Given the description of an element on the screen output the (x, y) to click on. 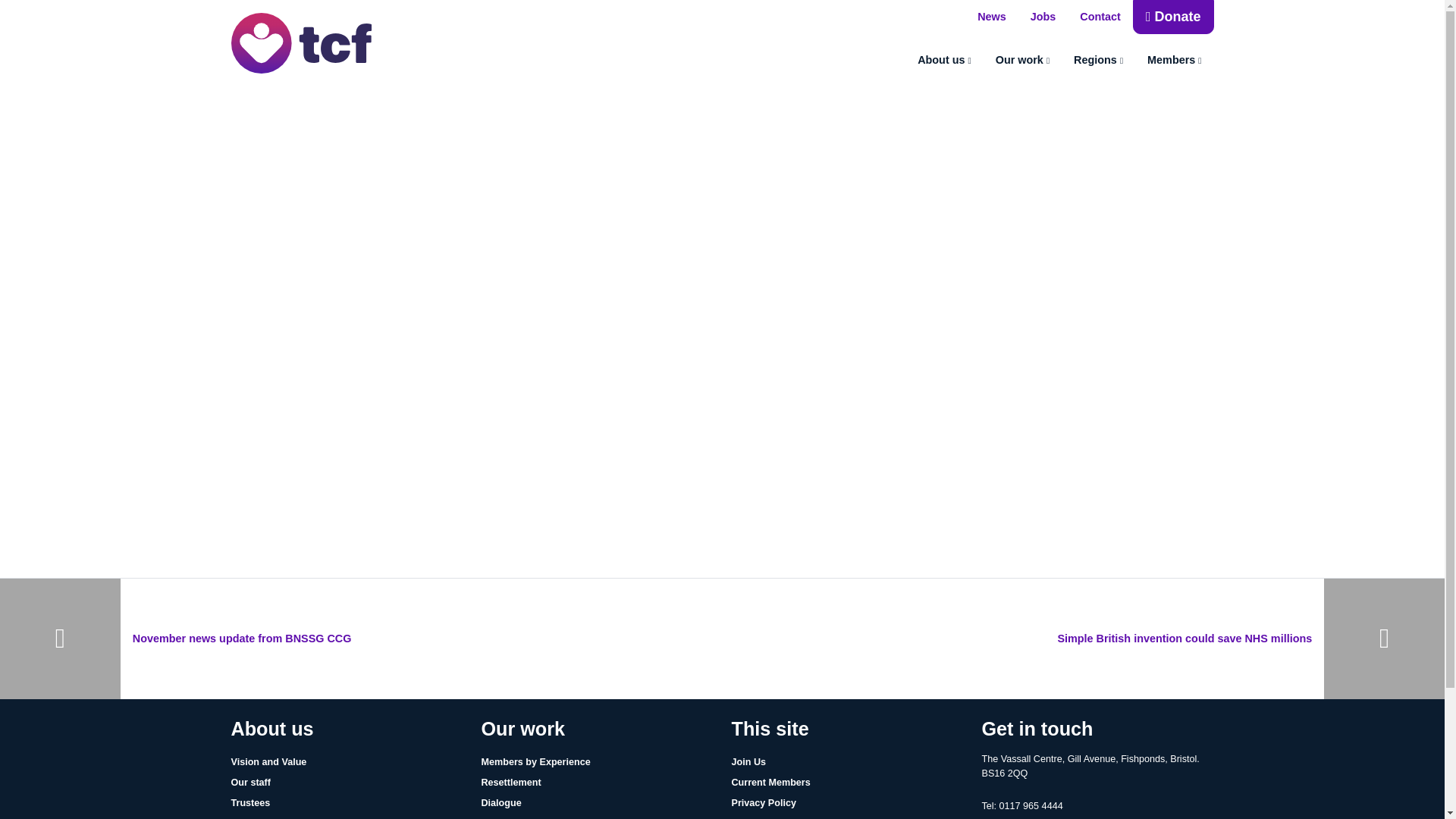
About us (944, 60)
Donate (1173, 17)
News (991, 17)
Jobs (1042, 17)
Our work (1022, 60)
Contact (1099, 17)
